Given the description of an element on the screen output the (x, y) to click on. 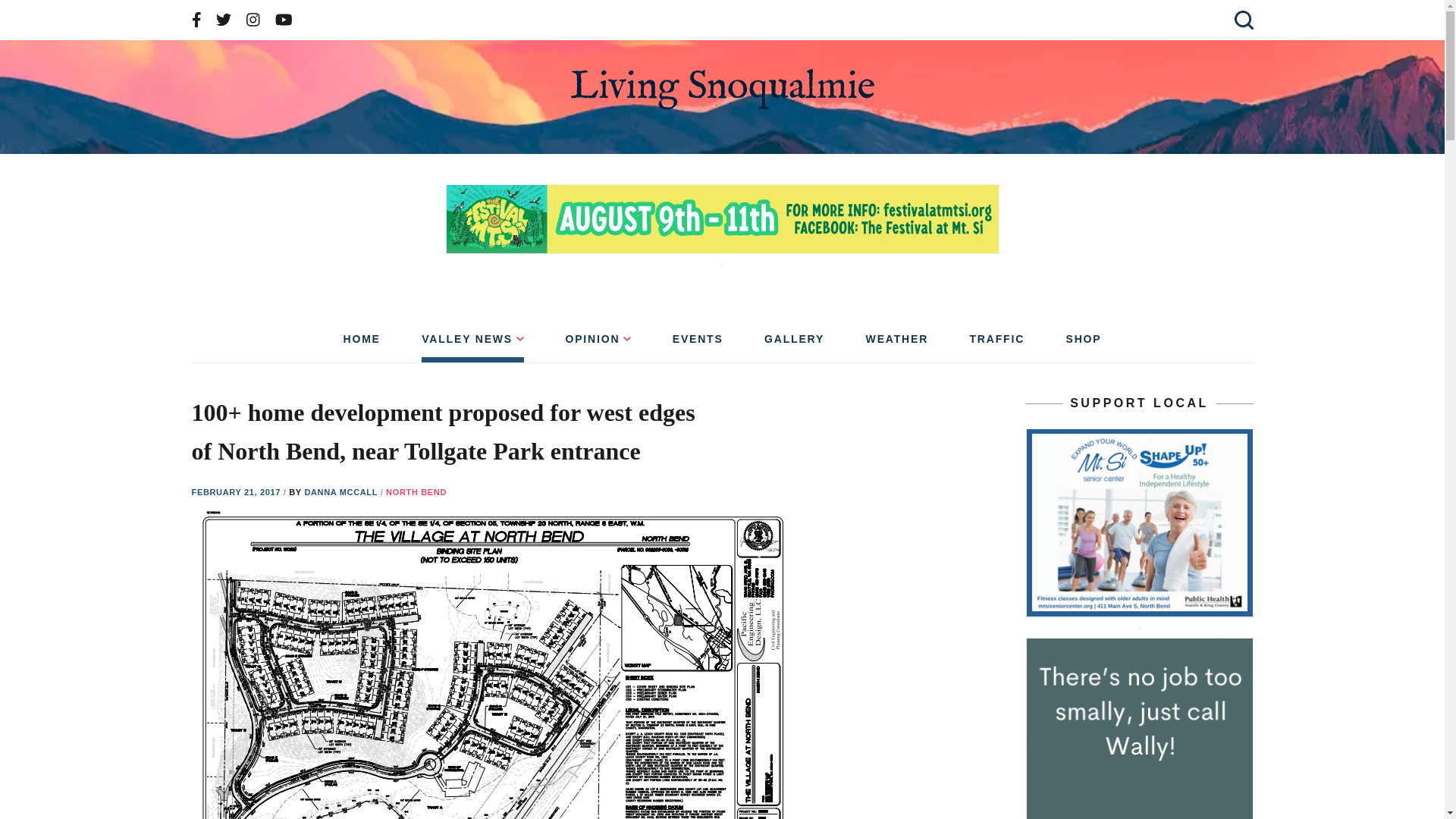
YouTube (283, 19)
GALLERY (794, 344)
SEARCH (1240, 19)
HOME (361, 344)
EVENTS (697, 344)
VALLEY NEWS (473, 344)
DANNA MCCALL (342, 491)
NORTH BEND (415, 491)
WEATHER (897, 344)
Instagram (253, 19)
Twitter (223, 19)
SHOP (1083, 344)
Facebook (195, 19)
OPINION (597, 344)
TRAFFIC (997, 344)
